Given the description of an element on the screen output the (x, y) to click on. 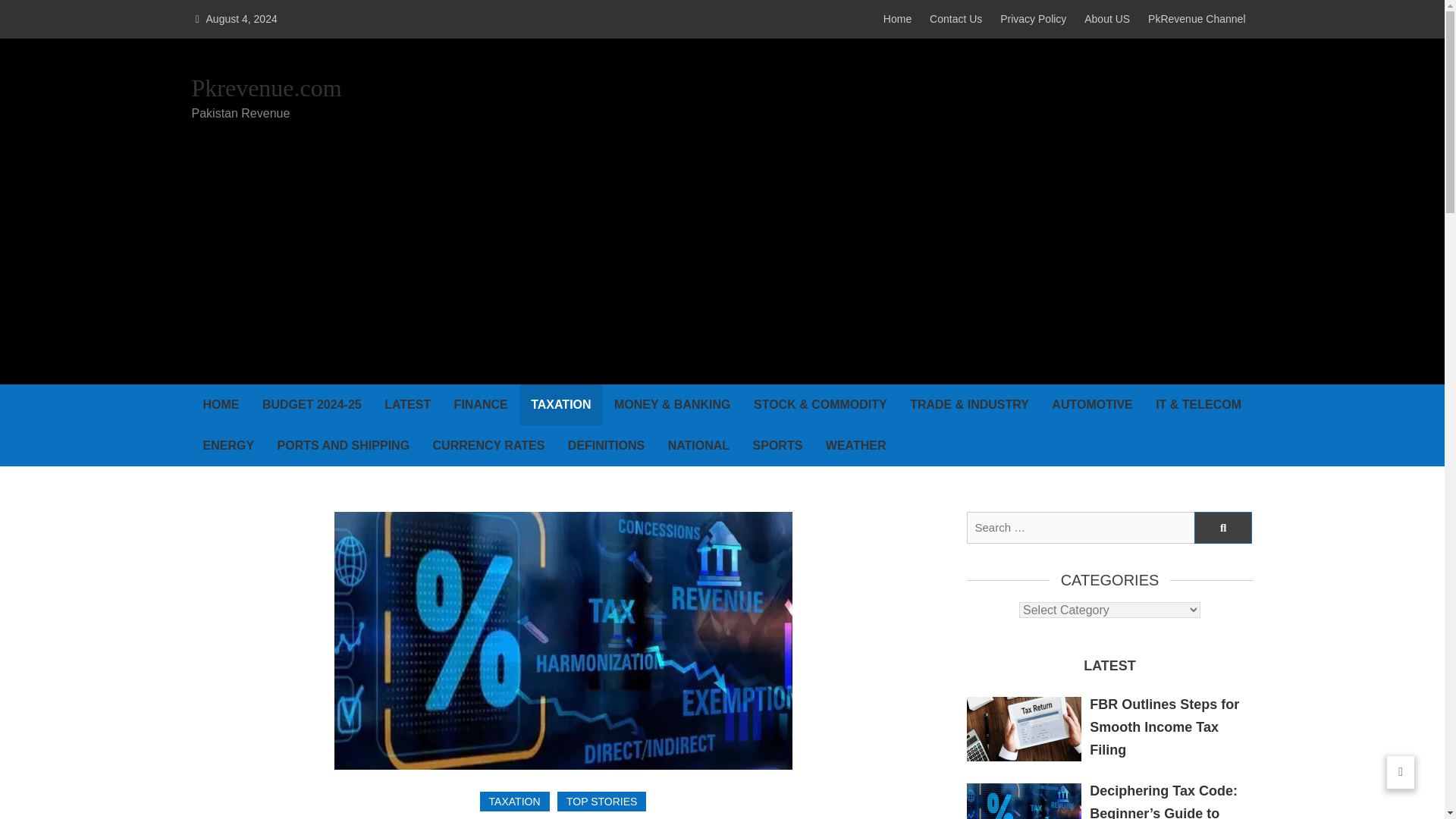
About US (1106, 19)
NATIONAL (698, 445)
DEFINITIONS (606, 445)
LATEST (407, 404)
HOME (220, 404)
Contact Us (955, 19)
PORTS AND SHIPPING (344, 445)
FINANCE (480, 404)
Pkrevenue.com (265, 88)
WEATHER (855, 445)
CURRENCY RATES (489, 445)
AUTOMOTIVE (1091, 404)
TAXATION (515, 801)
ENERGY (227, 445)
BUDGET 2024-25 (311, 404)
